Given the description of an element on the screen output the (x, y) to click on. 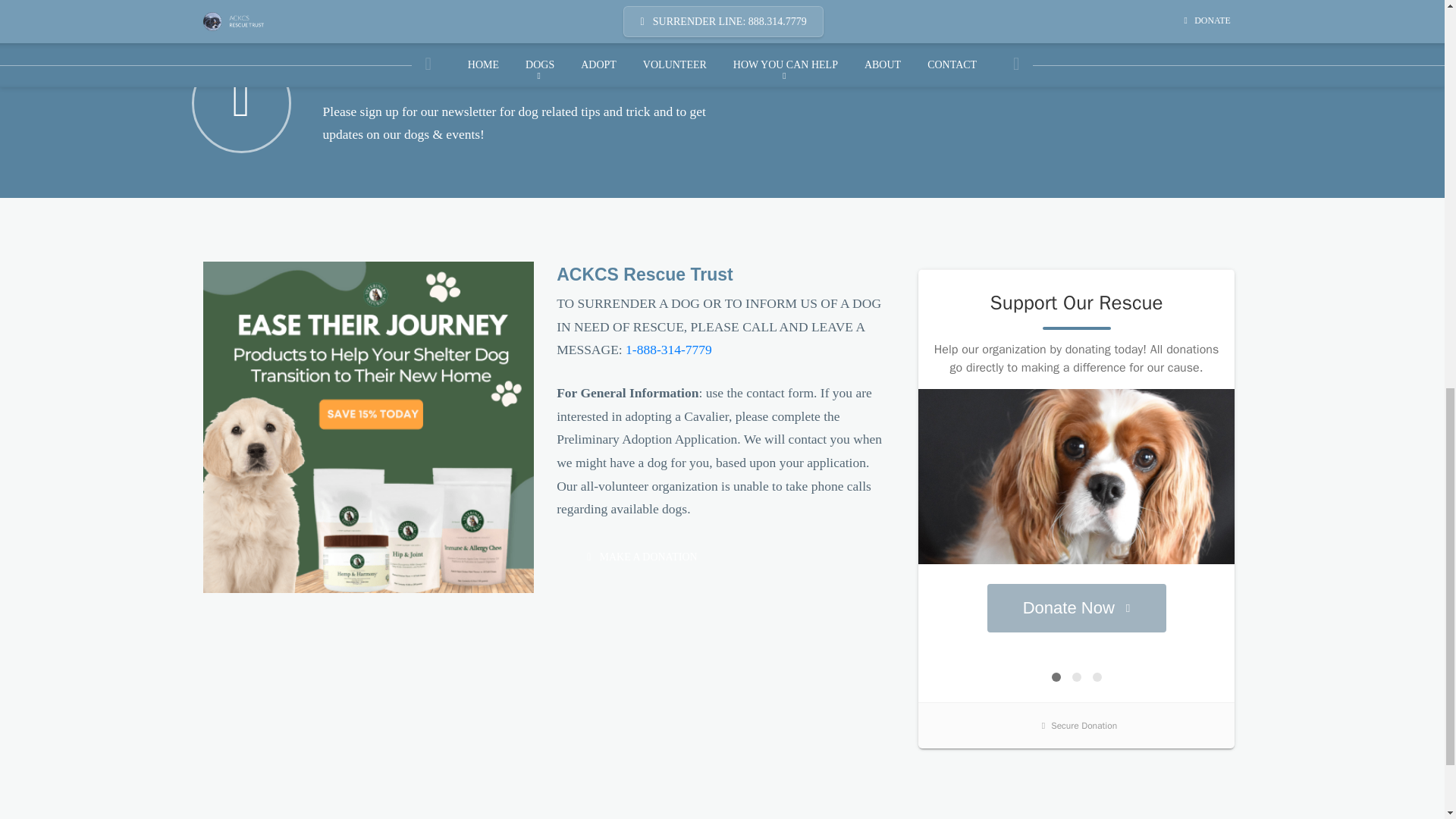
CALL (668, 349)
1-888-314-7779 (668, 349)
Donate (634, 557)
Cavalier Rescue Trust's Sponsor (368, 426)
MAKE A DONATION (634, 557)
